Given the description of an element on the screen output the (x, y) to click on. 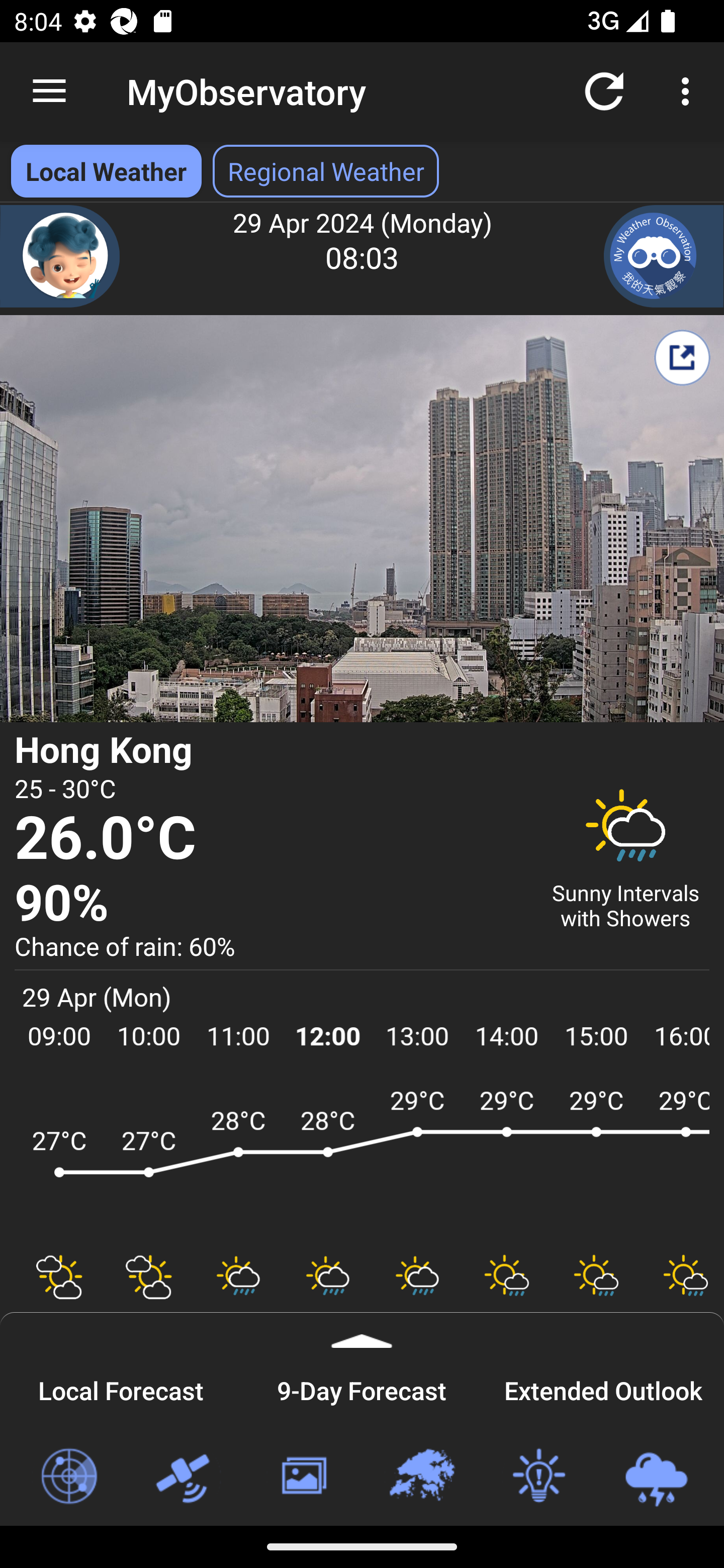
Navigate up (49, 91)
Refresh (604, 90)
More options (688, 90)
Local Weather Local Weather selected (105, 170)
Regional Weather Select Regional Weather (325, 170)
Chatbot (60, 256)
My Weather Observation (663, 256)
Share My Weather Report (681, 357)
26.0°C Temperature
26.0 degree Celsius (270, 839)
90% Relative Humidity
90 percent (270, 903)
ARWF (361, 1160)
Expand (362, 1330)
Local Forecast (120, 1387)
Extended Outlook (603, 1387)
Radar Images (68, 1476)
Satellite Images (185, 1476)
Weather Photos (302, 1476)
Regional Weather (420, 1476)
Weather Tips (537, 1476)
Loc-based Rain & Lightning Forecast (655, 1476)
